Given the description of an element on the screen output the (x, y) to click on. 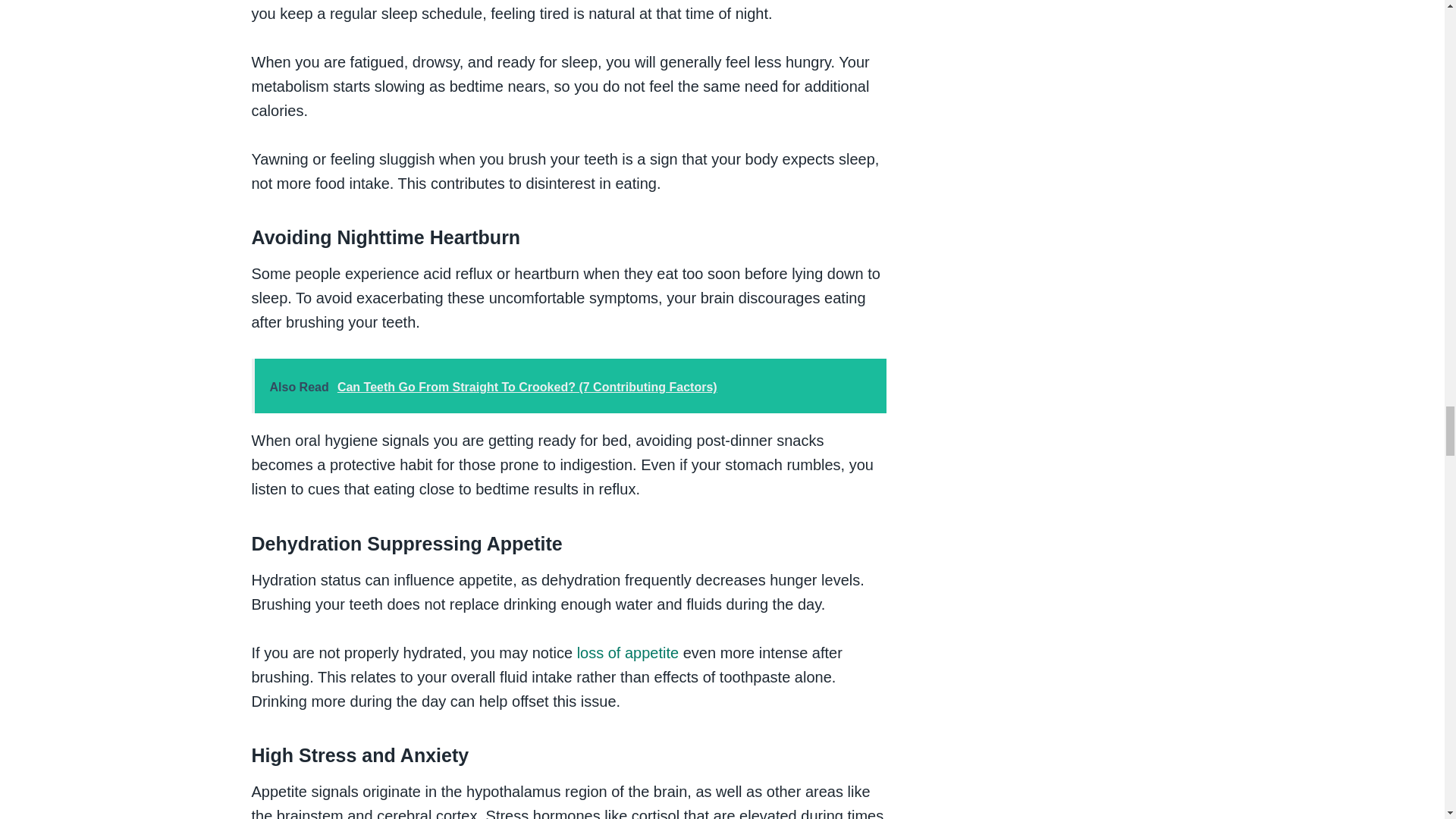
loss of appetite (627, 652)
